Given the description of an element on the screen output the (x, y) to click on. 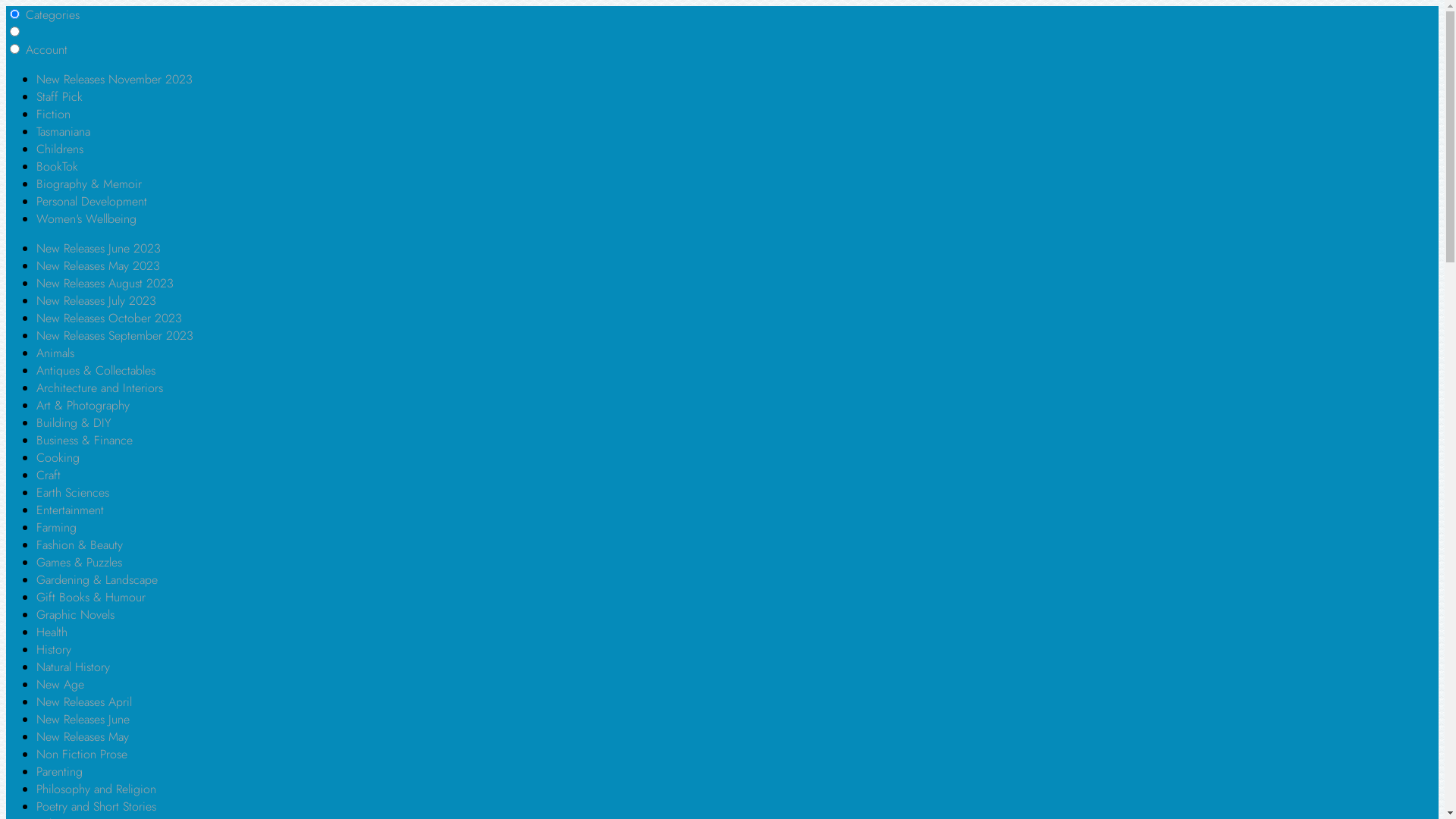
Graphic Novels Element type: text (75, 614)
Art & Photography Element type: text (82, 405)
Health Element type: text (51, 631)
Tasmaniana Element type: text (63, 131)
Craft Element type: text (48, 474)
New Releases June Element type: text (82, 719)
Poetry and Short Stories Element type: text (96, 806)
Fiction Element type: text (53, 113)
Fashion & Beauty Element type: text (79, 544)
New Age Element type: text (60, 684)
Cooking Element type: text (57, 457)
New Releases July 2023 Element type: text (96, 300)
Natural History Element type: text (72, 666)
New Releases May Element type: text (82, 736)
Non Fiction Prose Element type: text (81, 753)
Women's Wellbeing Element type: text (86, 218)
History Element type: text (53, 649)
Architecture and Interiors Element type: text (99, 387)
Gardening & Landscape Element type: text (96, 579)
New Releases August 2023 Element type: text (104, 282)
Philosophy and Religion Element type: text (96, 788)
Parenting Element type: text (59, 771)
New Releases November 2023 Element type: text (114, 78)
Gift Books & Humour Element type: text (90, 596)
BookTok Element type: text (57, 166)
Earth Sciences Element type: text (72, 492)
Entertainment Element type: text (69, 509)
New Releases June 2023 Element type: text (98, 248)
Personal Development Element type: text (91, 201)
New Releases April Element type: text (83, 701)
Business & Finance Element type: text (84, 439)
Games & Puzzles Element type: text (79, 562)
Farming Element type: text (56, 527)
New Releases October 2023 Element type: text (109, 317)
New Releases September 2023 Element type: text (114, 335)
Biography & Memoir Element type: text (88, 183)
Building & DIY Element type: text (73, 422)
Animals Element type: text (55, 352)
Antiques & Collectables Element type: text (95, 370)
Staff Pick Element type: text (59, 96)
New Releases May 2023 Element type: text (98, 265)
Childrens Element type: text (59, 148)
